Given the description of an element on the screen output the (x, y) to click on. 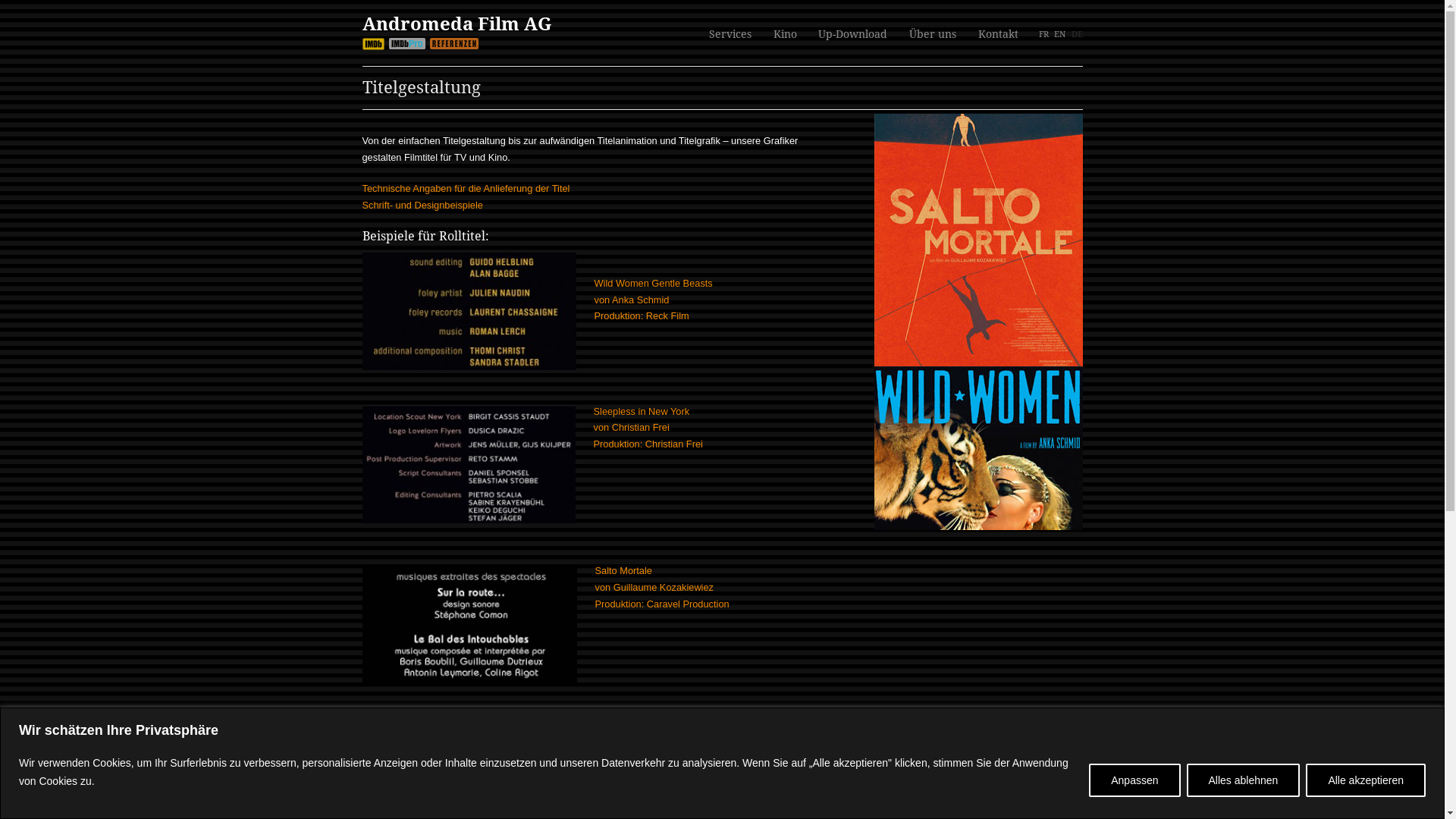
Andromeda Film AG Element type: text (456, 23)
Sleepless in New York Element type: text (641, 411)
von Anka Schmid Element type: text (631, 299)
Salto Mortale Element type: text (622, 570)
Schrift- und Designbeispiele Element type: text (422, 204)
Produktion: Lang Film AG Element type: text (652, 762)
FR Element type: text (1043, 34)
EN Element type: text (1059, 34)
Alles ablehnen Element type: text (1243, 780)
Wild Women Gentle Beasts Element type: text (653, 291)
Up-Download Element type: text (852, 34)
Alle akzeptieren Element type: text (1365, 780)
Produktion: Reck Film Element type: text (641, 315)
von Christian Frei Element type: text (630, 427)
Produktion: Christian Frei Element type: text (647, 443)
von Guillaume Kozakiewiez Element type: text (653, 587)
Produktion: Caravel Production Element type: text (661, 603)
Elektroboy Element type: text (620, 730)
DE Element type: text (1076, 34)
Anpassen Element type: text (1133, 780)
von Marcel Gisler Element type: text (635, 746)
